Given the description of an element on the screen output the (x, y) to click on. 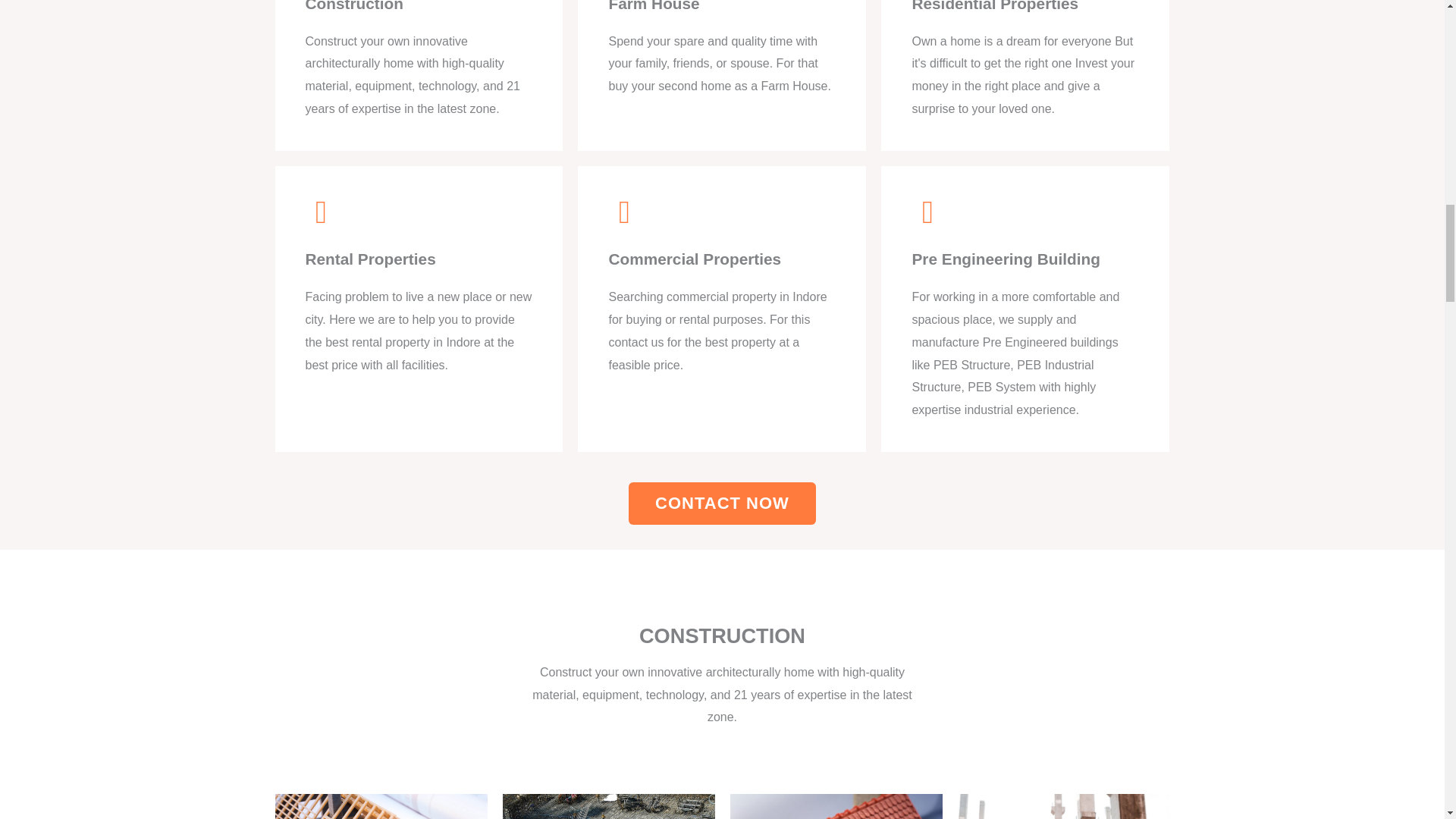
CONTACT NOW (721, 503)
